Given the description of an element on the screen output the (x, y) to click on. 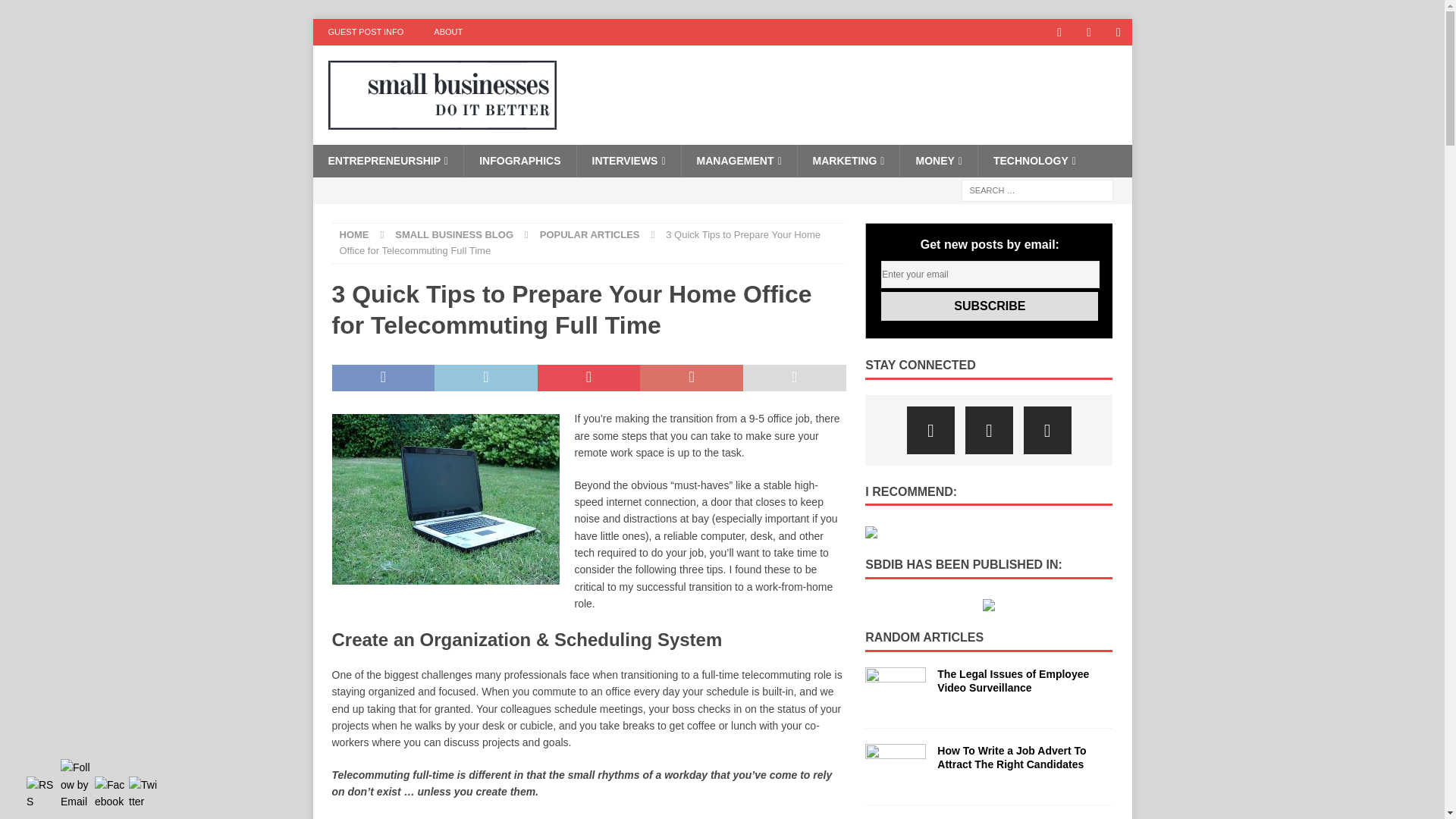
MARKETING (847, 160)
HOME (354, 234)
MONEY (937, 160)
ABOUT (448, 31)
TECHNOLOGY (1033, 160)
INFOGRAPHICS (519, 160)
ENTREPRENEURSHIP (388, 160)
INTERVIEWS (628, 160)
Search (56, 11)
MANAGEMENT (738, 160)
